Given the description of an element on the screen output the (x, y) to click on. 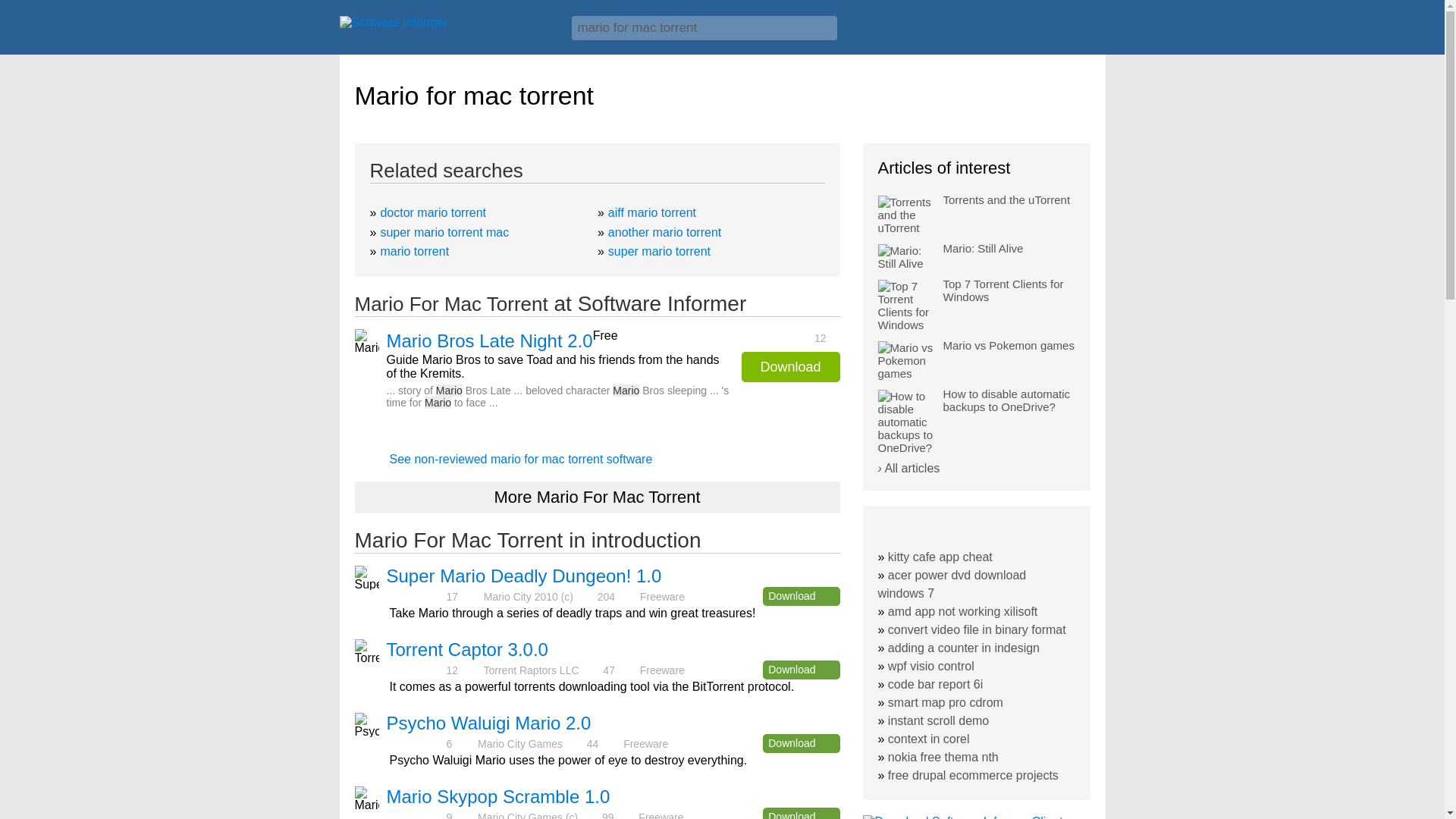
another mario torrent (664, 232)
12 votes (785, 336)
Super Mario Deadly Dungeon! 1.0 (524, 575)
Super Mario Deadly Dungeon! 1.0 (524, 575)
Mario Bros Late Night 2.0 (489, 340)
Torrent Captor 3.0.0 (467, 649)
Mario Skypop Scramble 1.0 (498, 796)
Download (801, 669)
Mario Skypop Scramble 1.0 (498, 796)
aiff mario torrent (651, 212)
mario for mac torrent (704, 27)
doctor mario torrent (433, 212)
Download (790, 367)
super mario torrent (659, 250)
